Given the description of an element on the screen output the (x, y) to click on. 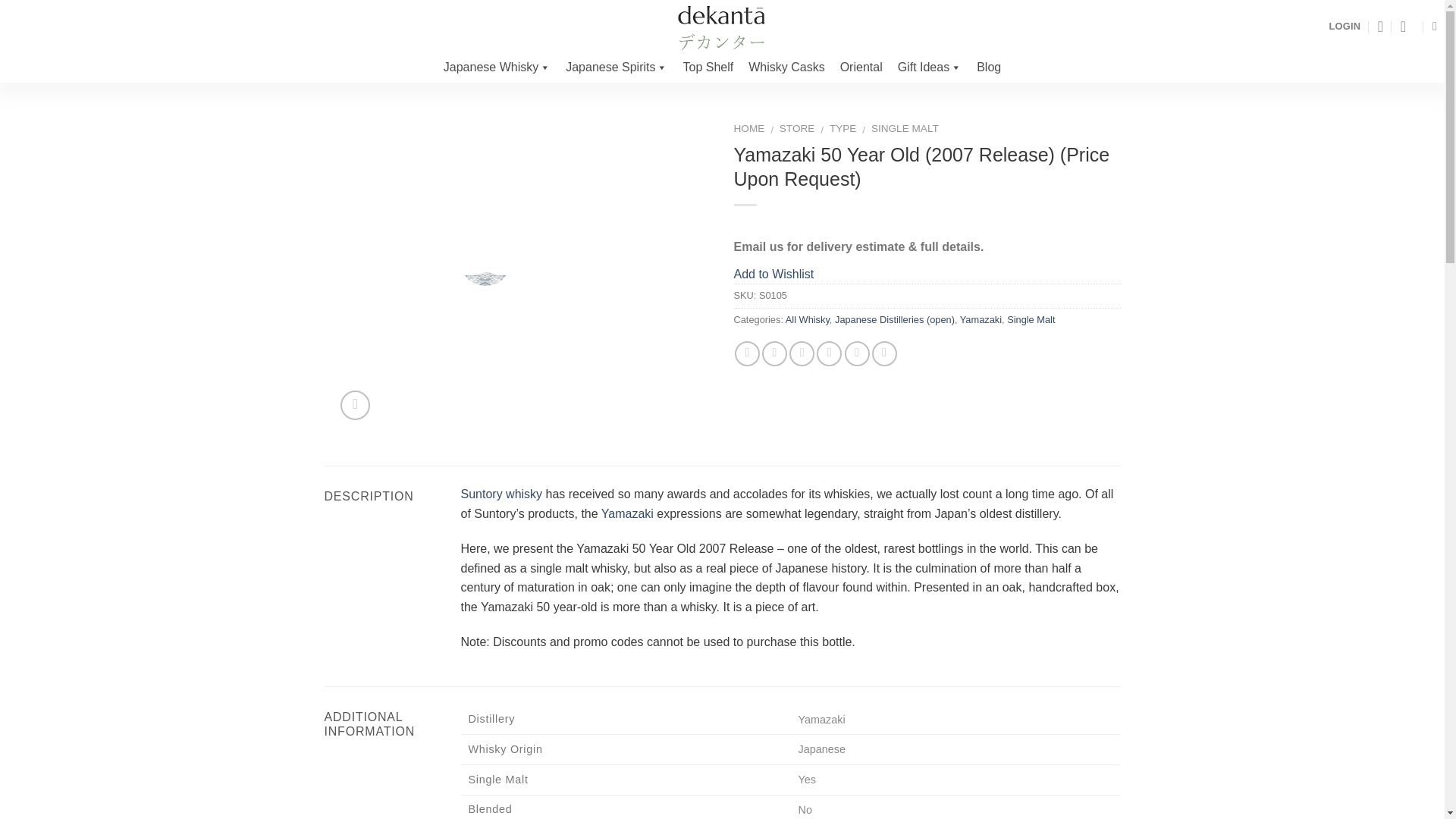
LOGIN (1343, 26)
Japanese Whisky (496, 67)
Share on Facebook (747, 353)
Share on Tumblr (884, 353)
Email to a Friend (801, 353)
Zoom (354, 405)
Share on Twitter (774, 353)
Pin on Pinterest (828, 353)
